Given the description of an element on the screen output the (x, y) to click on. 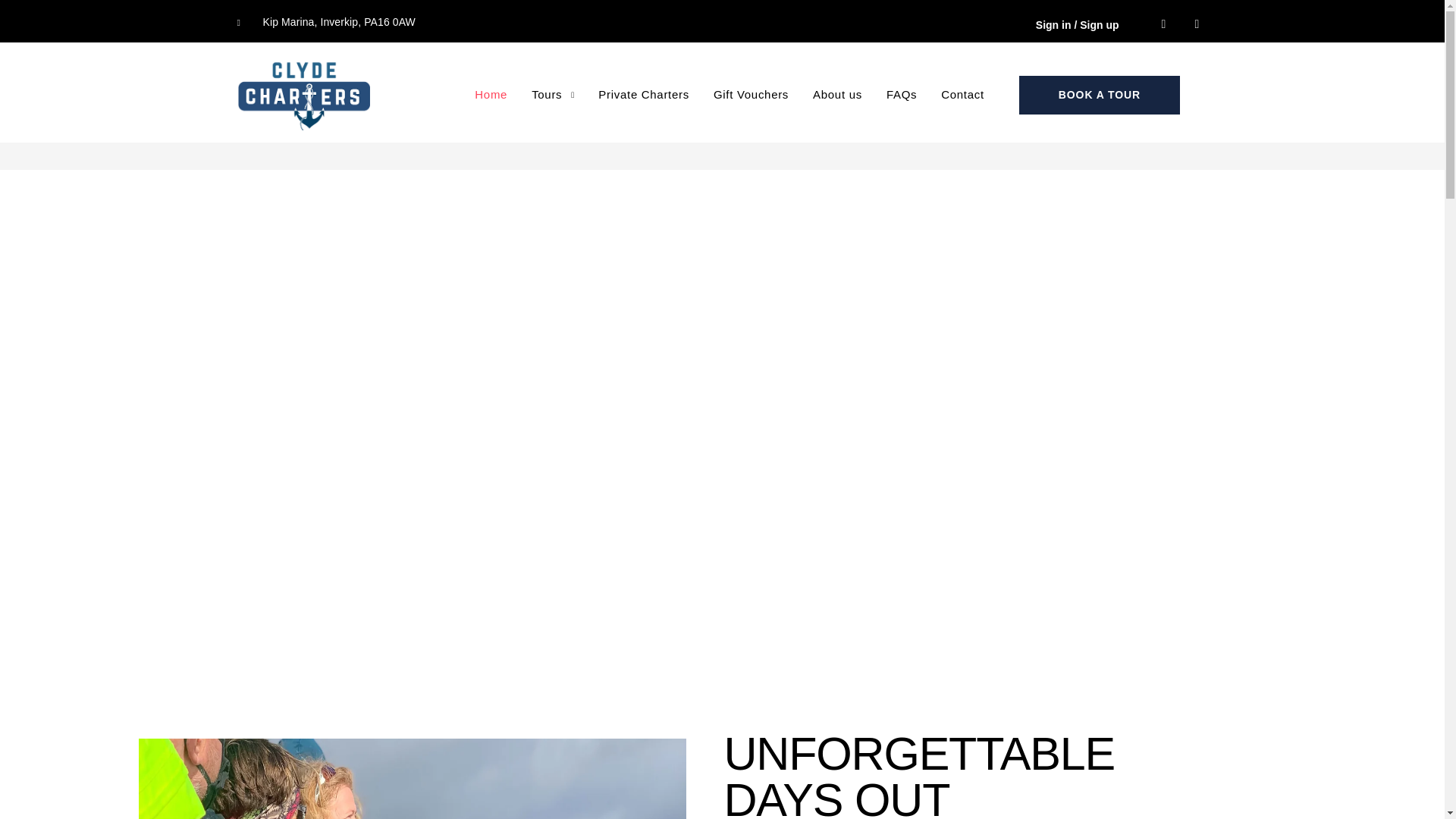
FAQs (901, 95)
About us (836, 95)
BOOK A TOUR (1099, 95)
Tours (552, 95)
Private Charters (643, 95)
Home (490, 95)
Contact (962, 95)
Gift Vouchers (751, 95)
